Given the description of an element on the screen output the (x, y) to click on. 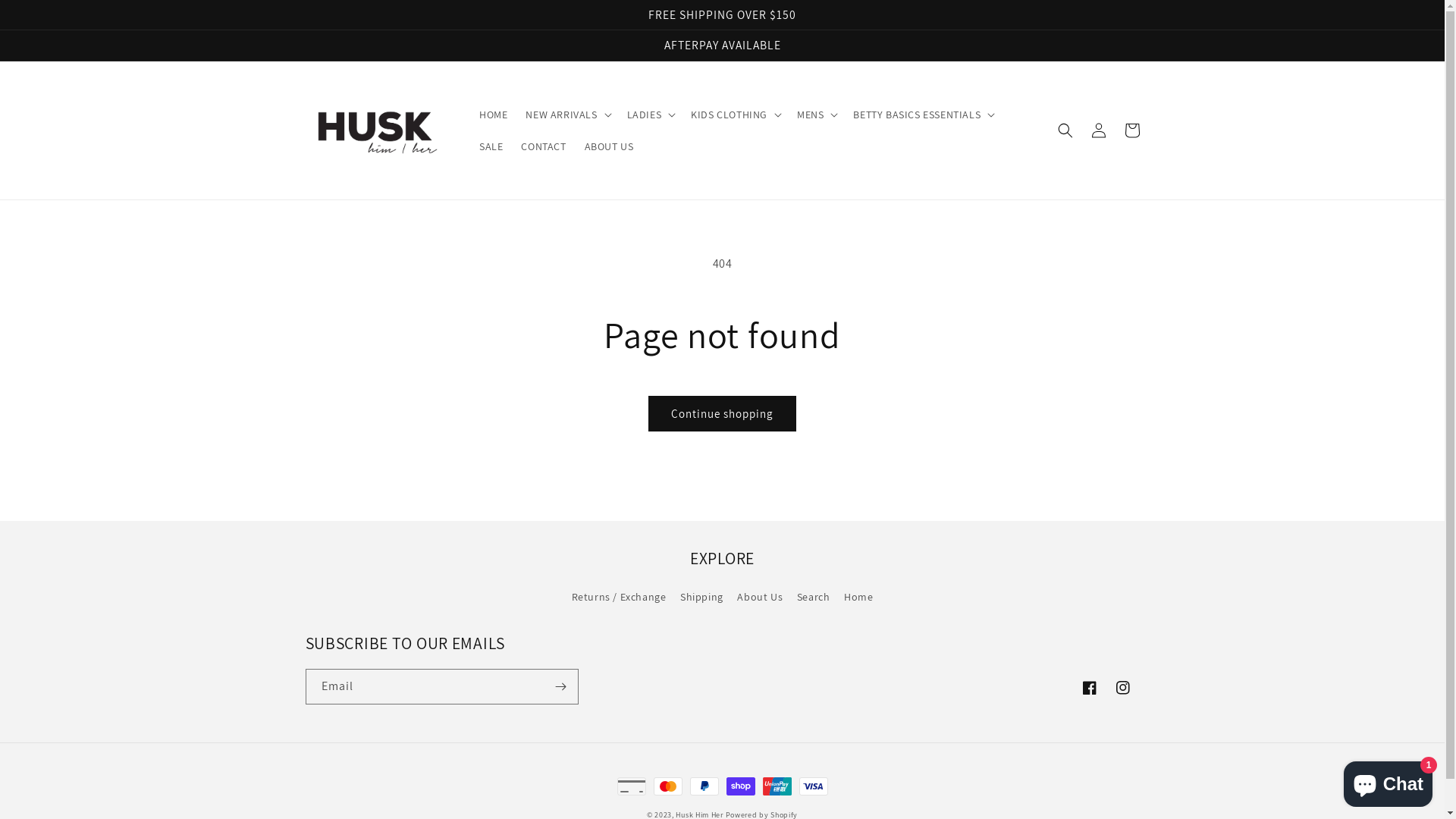
Returns / Exchange Element type: text (618, 598)
Continue shopping Element type: text (722, 413)
Cart Element type: text (1131, 130)
Instagram Element type: text (1122, 687)
Search Element type: text (813, 596)
About Us Element type: text (759, 596)
SALE Element type: text (490, 146)
Shipping Element type: text (701, 596)
Home Element type: text (858, 596)
HOME Element type: text (493, 114)
Shopify online store chat Element type: hover (1388, 780)
ABOUT US Element type: text (609, 146)
CONTACT Element type: text (542, 146)
Log in Element type: text (1097, 130)
Facebook Element type: text (1088, 687)
